Given the description of an element on the screen output the (x, y) to click on. 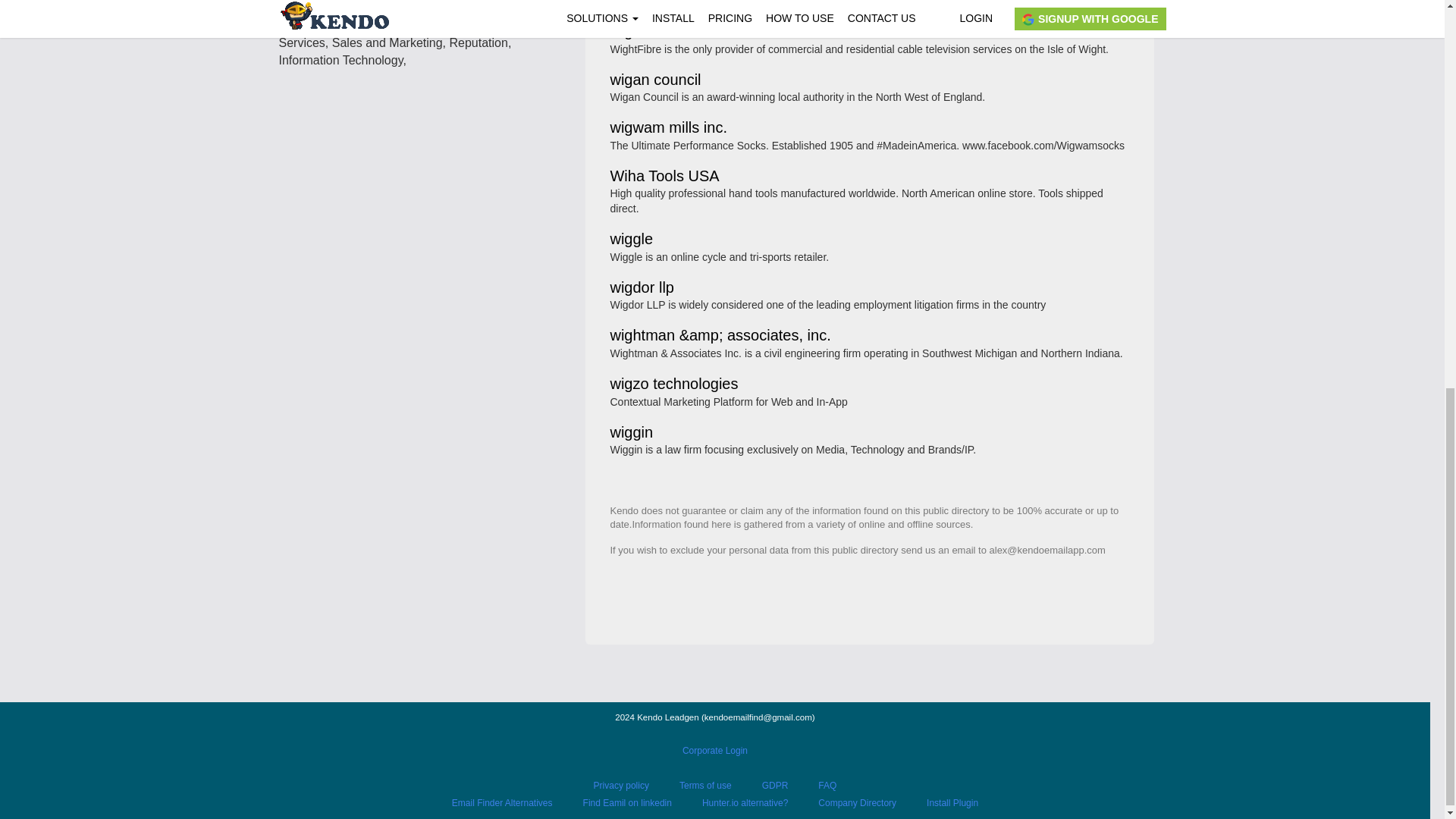
wightfibre (642, 31)
Wiha Tools USA (664, 176)
wigan council (655, 80)
wigwam mills inc. (668, 128)
